Given the description of an element on the screen output the (x, y) to click on. 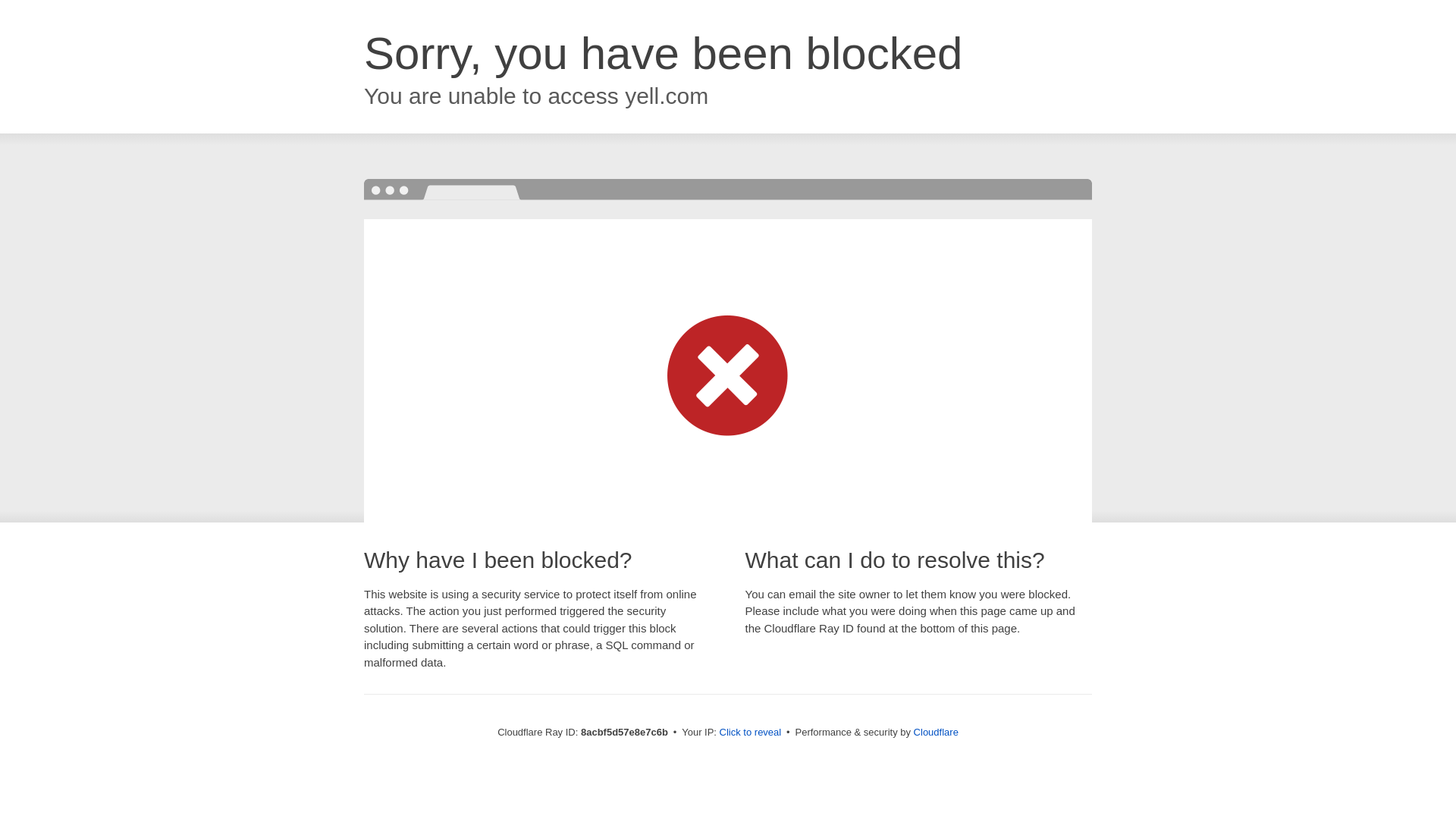
Cloudflare (936, 731)
Click to reveal (750, 732)
